Given the description of an element on the screen output the (x, y) to click on. 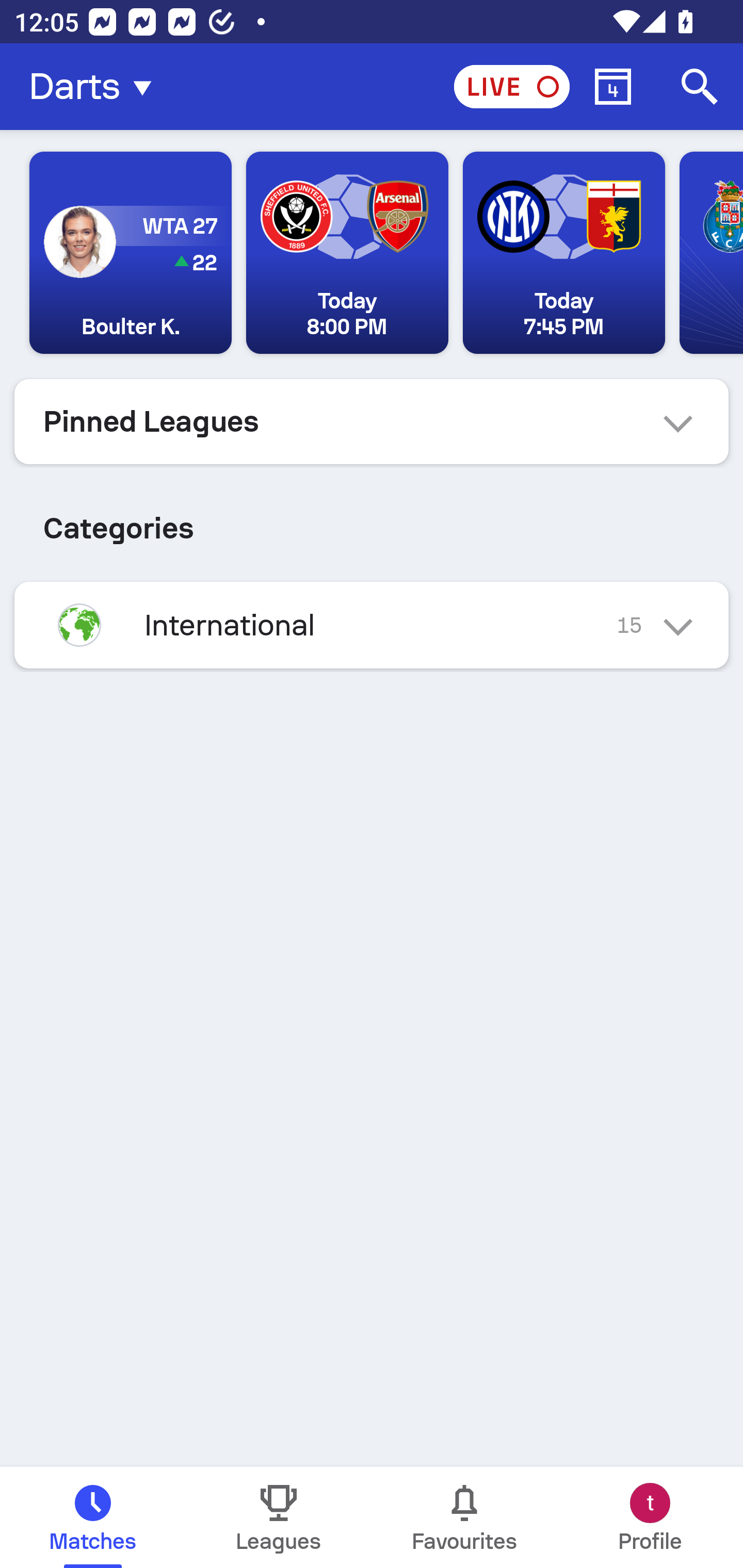
Darts (96, 86)
Calendar (612, 86)
Search (699, 86)
WTA 27 22 Boulter K. (130, 253)
Today
8:00 PM (346, 253)
Today
7:45 PM (563, 253)
Pinned Leagues (371, 421)
Categories (371, 520)
International 15 (371, 624)
Leagues (278, 1517)
Favourites (464, 1517)
Profile (650, 1517)
